Given the description of an element on the screen output the (x, y) to click on. 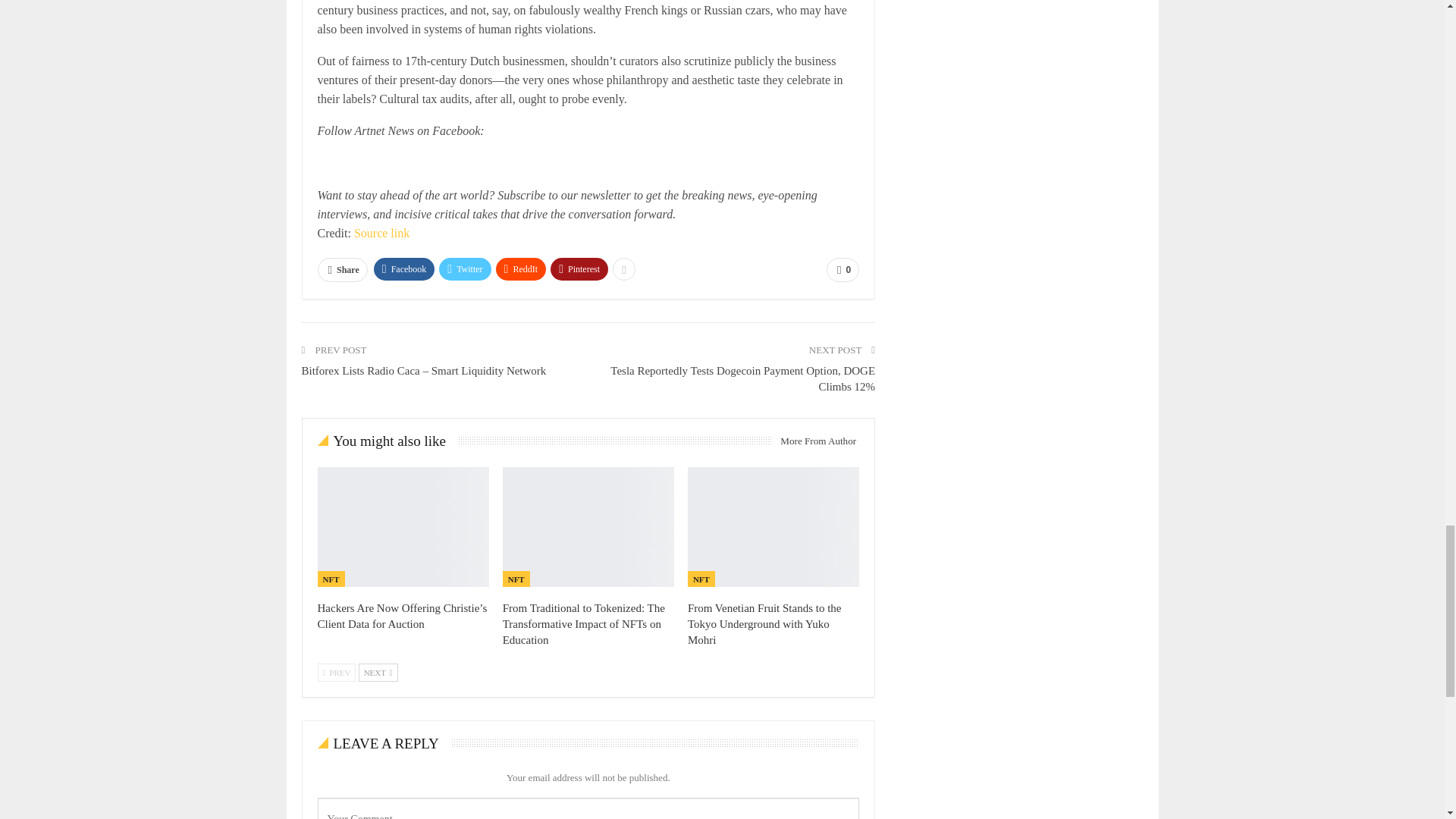
Source link (381, 232)
Next (377, 672)
Previous (336, 672)
